Given the description of an element on the screen output the (x, y) to click on. 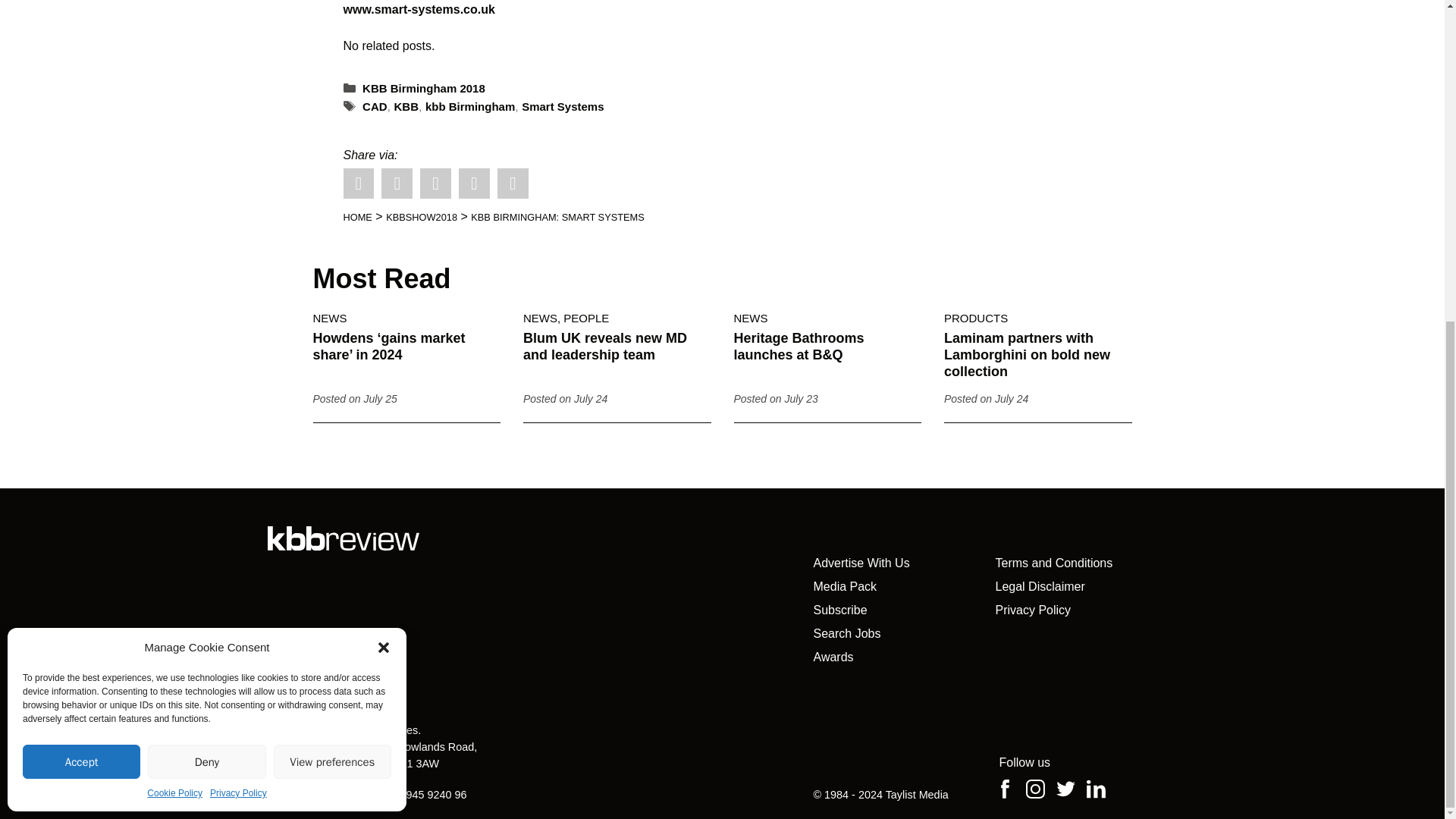
Cookie Policy (174, 271)
Linkedin (435, 183)
Accept (81, 239)
Twitter (358, 183)
Privacy Policy (237, 271)
Mail (512, 183)
Facebook (396, 183)
Print (473, 183)
View preferences (332, 239)
Deny (206, 239)
